Given the description of an element on the screen output the (x, y) to click on. 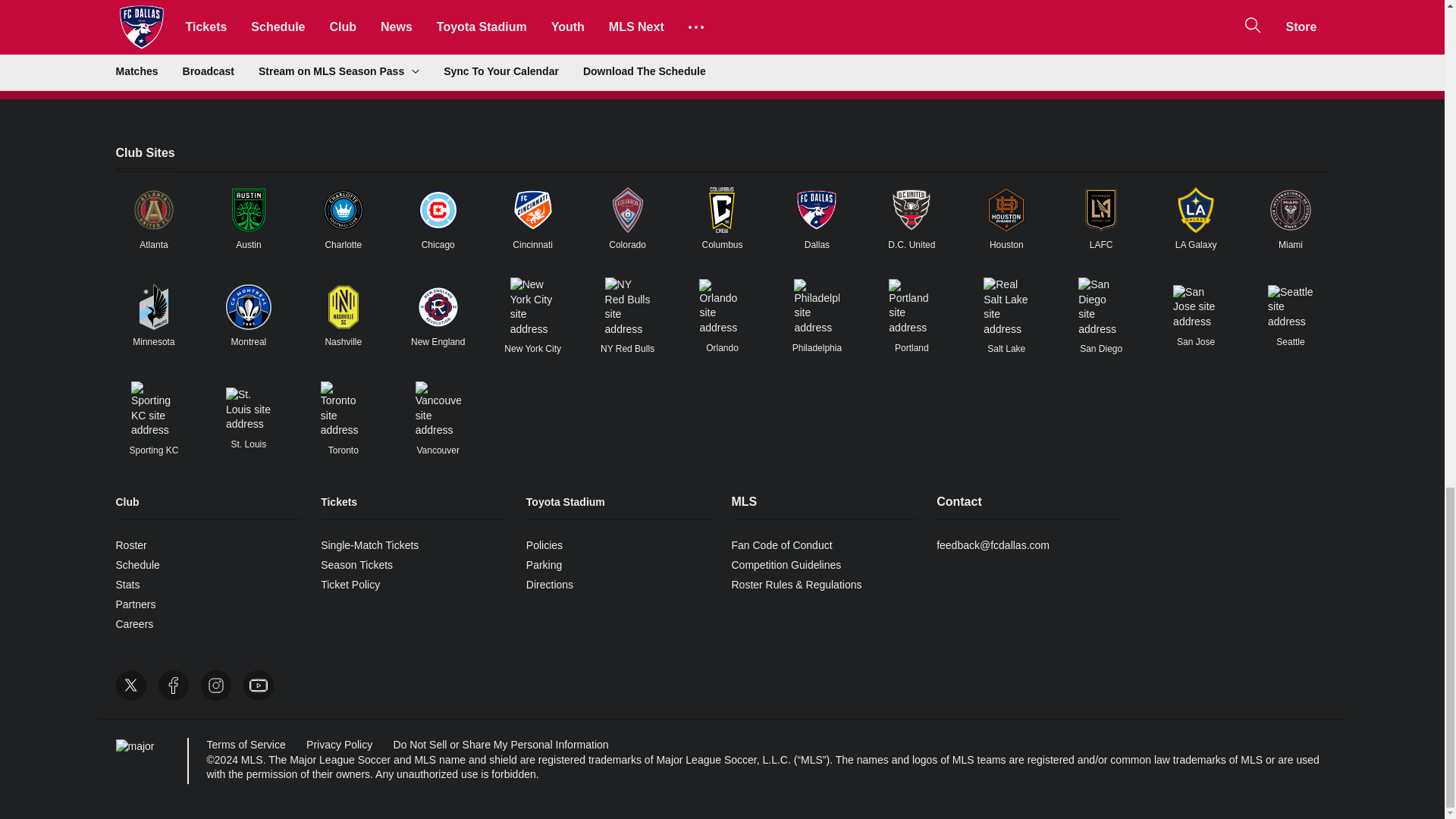
Link to Houston (1006, 209)
Link to Atlanta (153, 209)
Link to Dallas (816, 209)
Link to Austin (247, 209)
Link to Charlotte (343, 209)
Link to D.C. United (911, 209)
Link to LAFC (1101, 209)
Link to Colorado (627, 209)
Link to Chicago (437, 209)
Link to Columbus (721, 209)
